Given the description of an element on the screen output the (x, y) to click on. 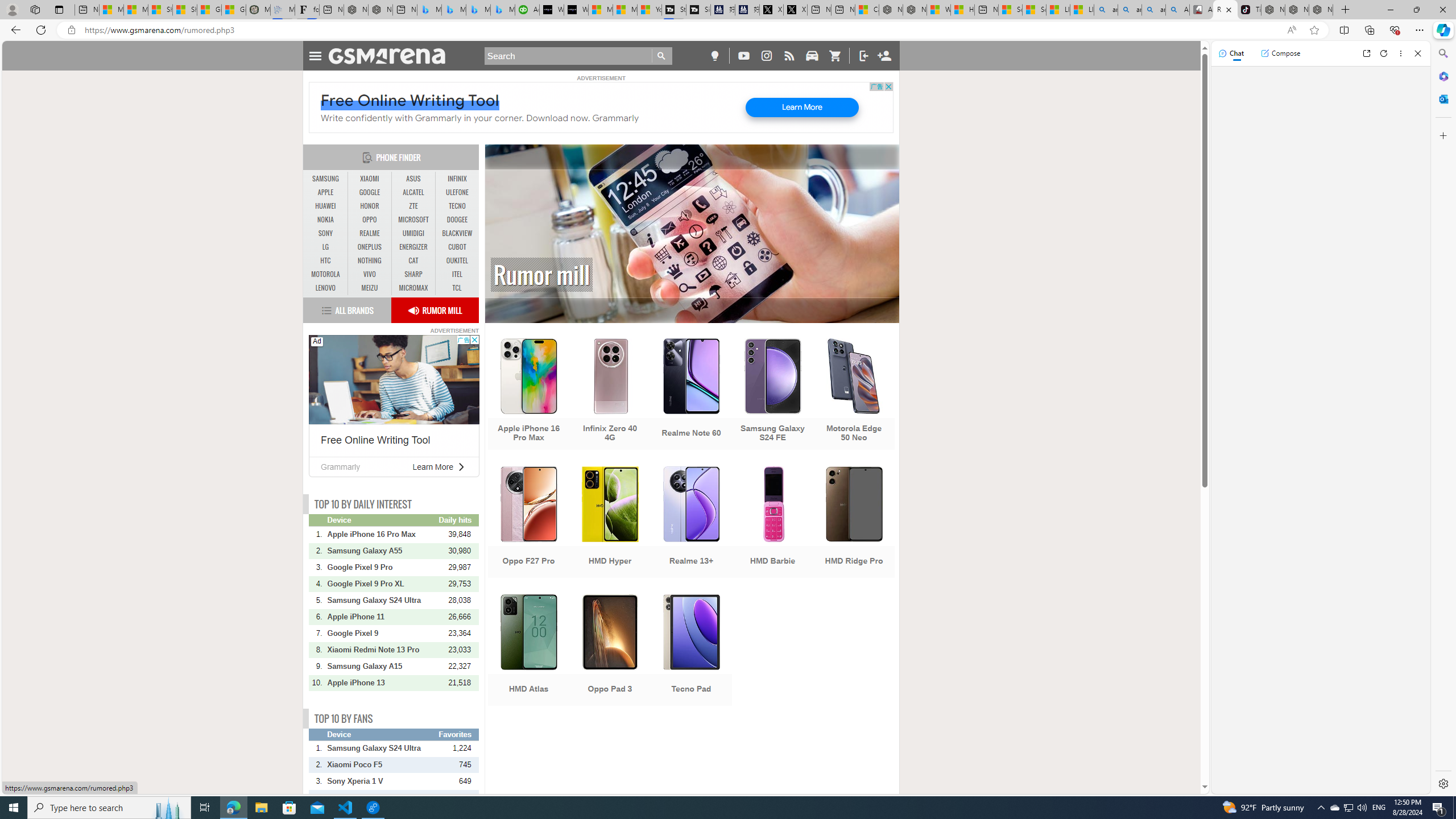
ITEL (457, 273)
Microsoft Bing Travel - Stays in Bangkok, Bangkok, Thailand (453, 9)
ENERGIZER (413, 246)
Streaming Coverage | T3 (673, 9)
TikTok (1248, 9)
Realme Note 60 (691, 395)
More options (1401, 53)
XIAOMI (369, 178)
Oppo Pad 3 (609, 651)
Class: ns-pn808-e-23 flip-on-rtl (460, 466)
